Given the description of an element on the screen output the (x, y) to click on. 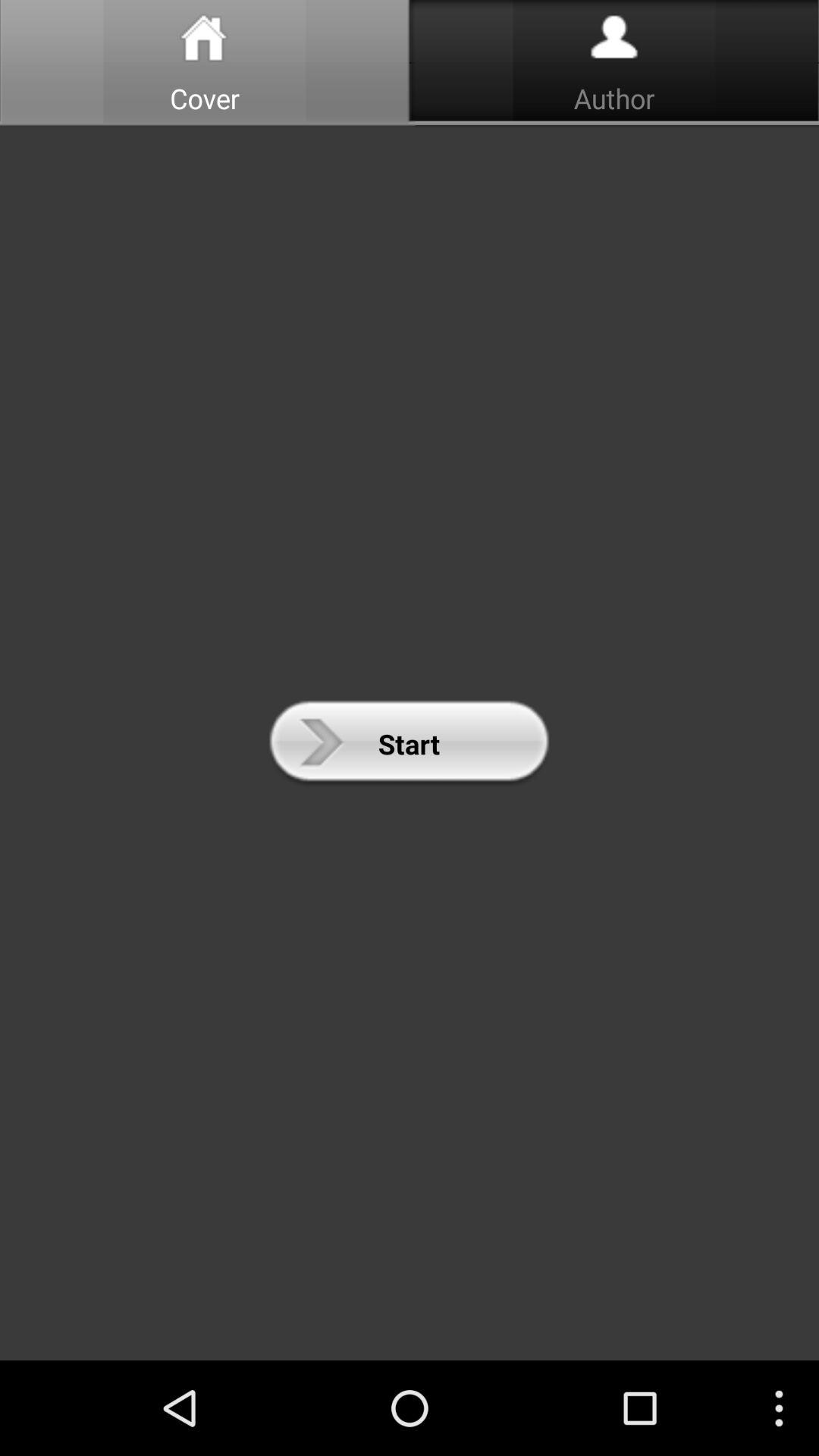
open the icon at the center (408, 743)
